Given the description of an element on the screen output the (x, y) to click on. 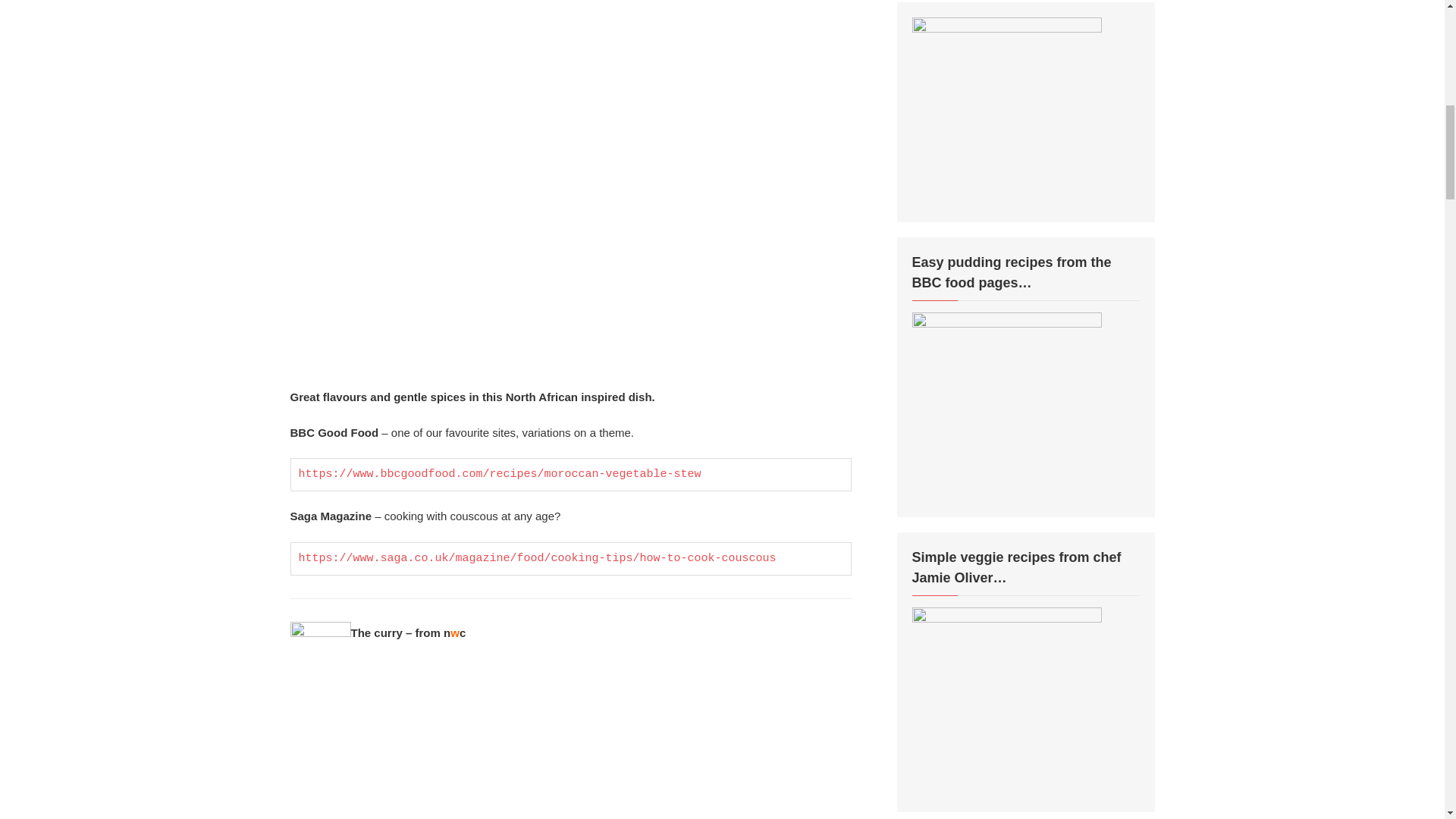
Now We're Cooking  -  Curry (569, 754)
